Given the description of an element on the screen output the (x, y) to click on. 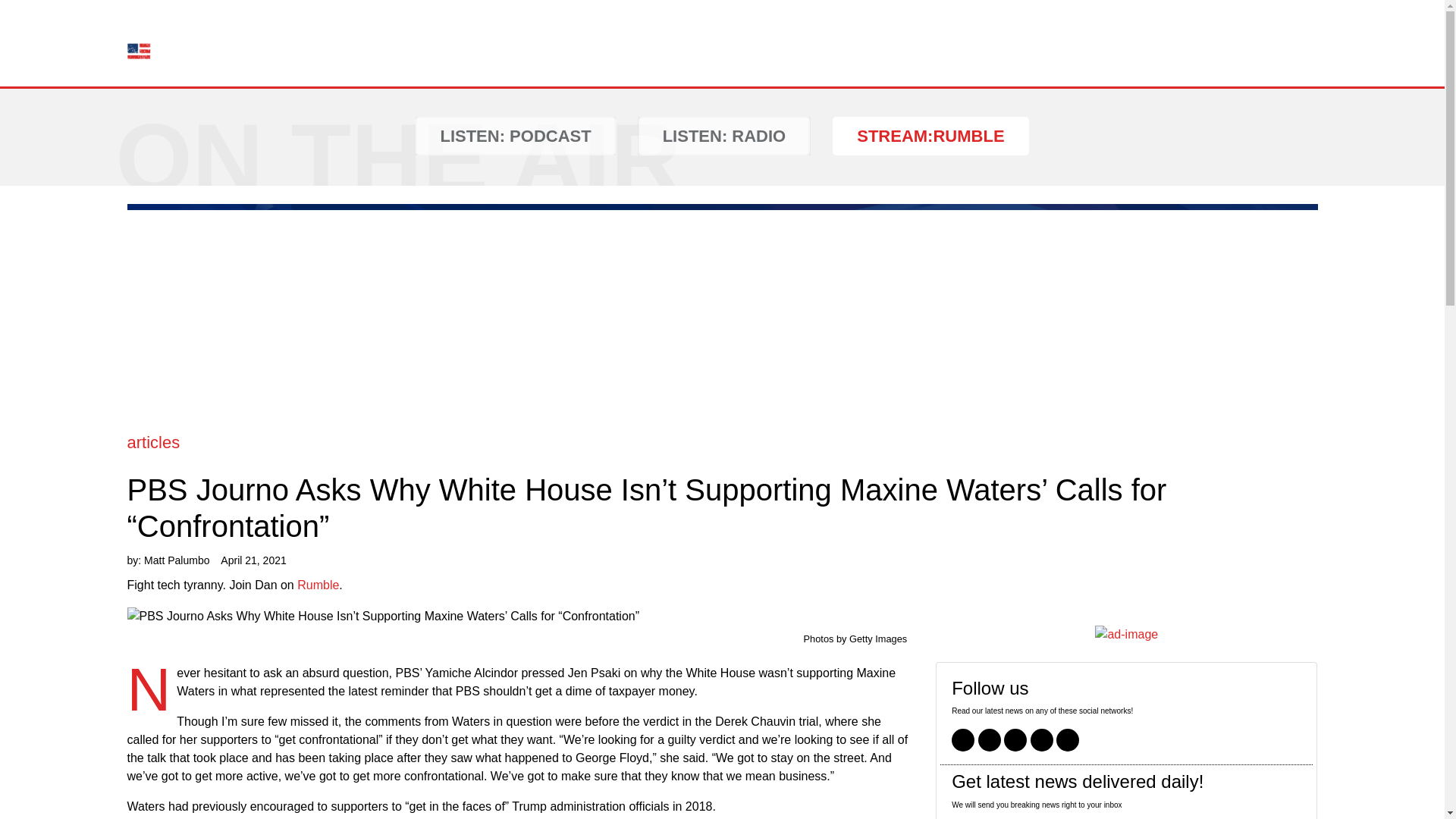
articles (154, 442)
Facebook (963, 739)
Instagram (1015, 739)
LISTEN: PODCAST (514, 136)
BONGINO REPORT (1104, 42)
Rumble (1067, 739)
STATION FINDER (843, 42)
Soundcloud (1041, 739)
LISTEN: RADIO (724, 136)
Twitter (989, 739)
Bongino (169, 43)
PODCASTS (724, 42)
Rumble (318, 584)
NEWSLETTER (970, 42)
STREAM:RUMBLE (929, 136)
